Given the description of an element on the screen output the (x, y) to click on. 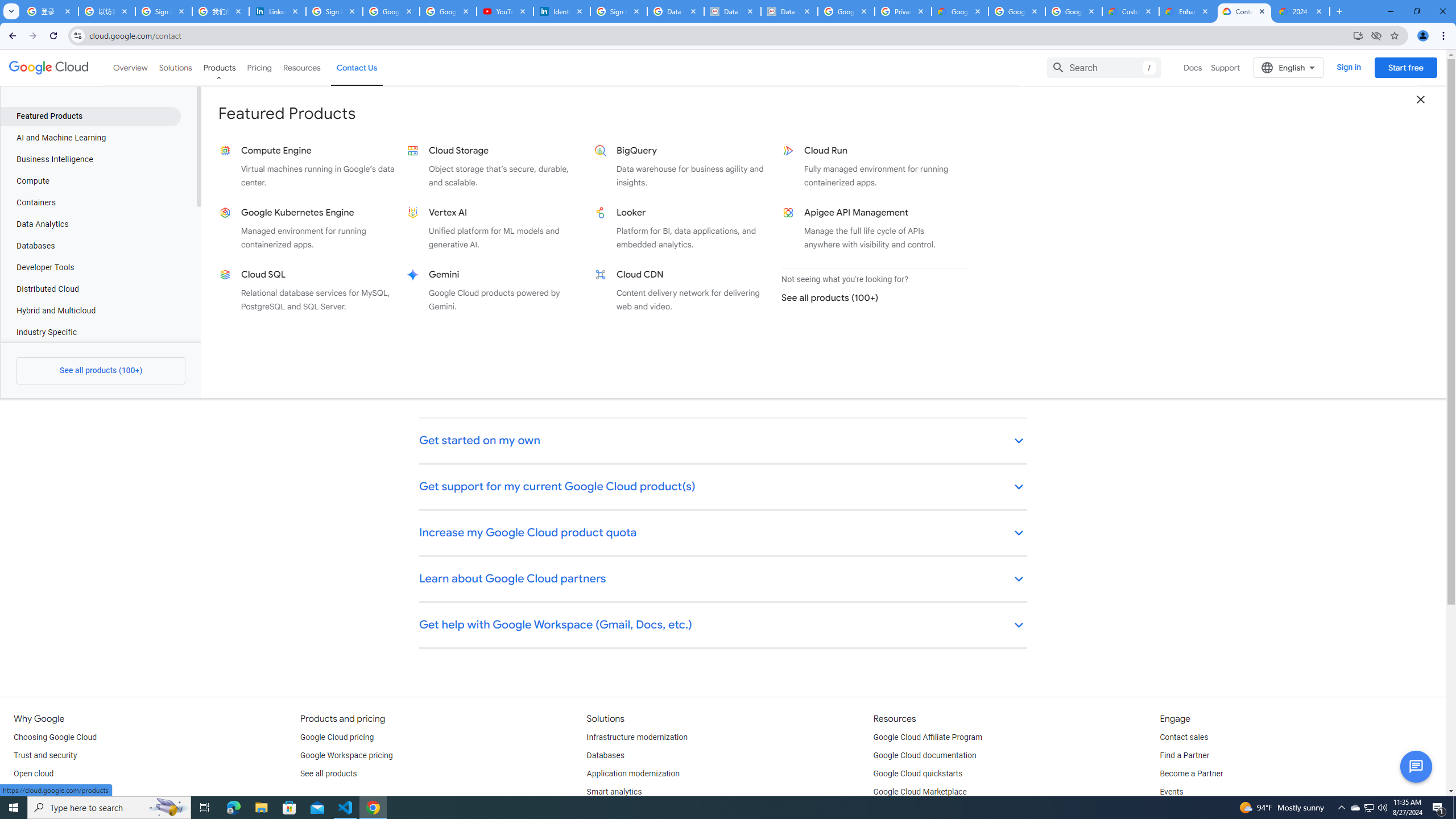
Google Cloud Terms Directory | Google Cloud (959, 11)
Google Workspace pricing (346, 755)
Become a Partner (1190, 773)
Get started on my own keyboard_arrow_down (723, 441)
Google Cloud (48, 67)
Google Workspace - Specific Terms (1015, 11)
Events (1170, 791)
Google Workspace - Specific Terms (1073, 11)
Enhanced Support | Google Cloud (1187, 11)
Featured Products (90, 116)
